Given the description of an element on the screen output the (x, y) to click on. 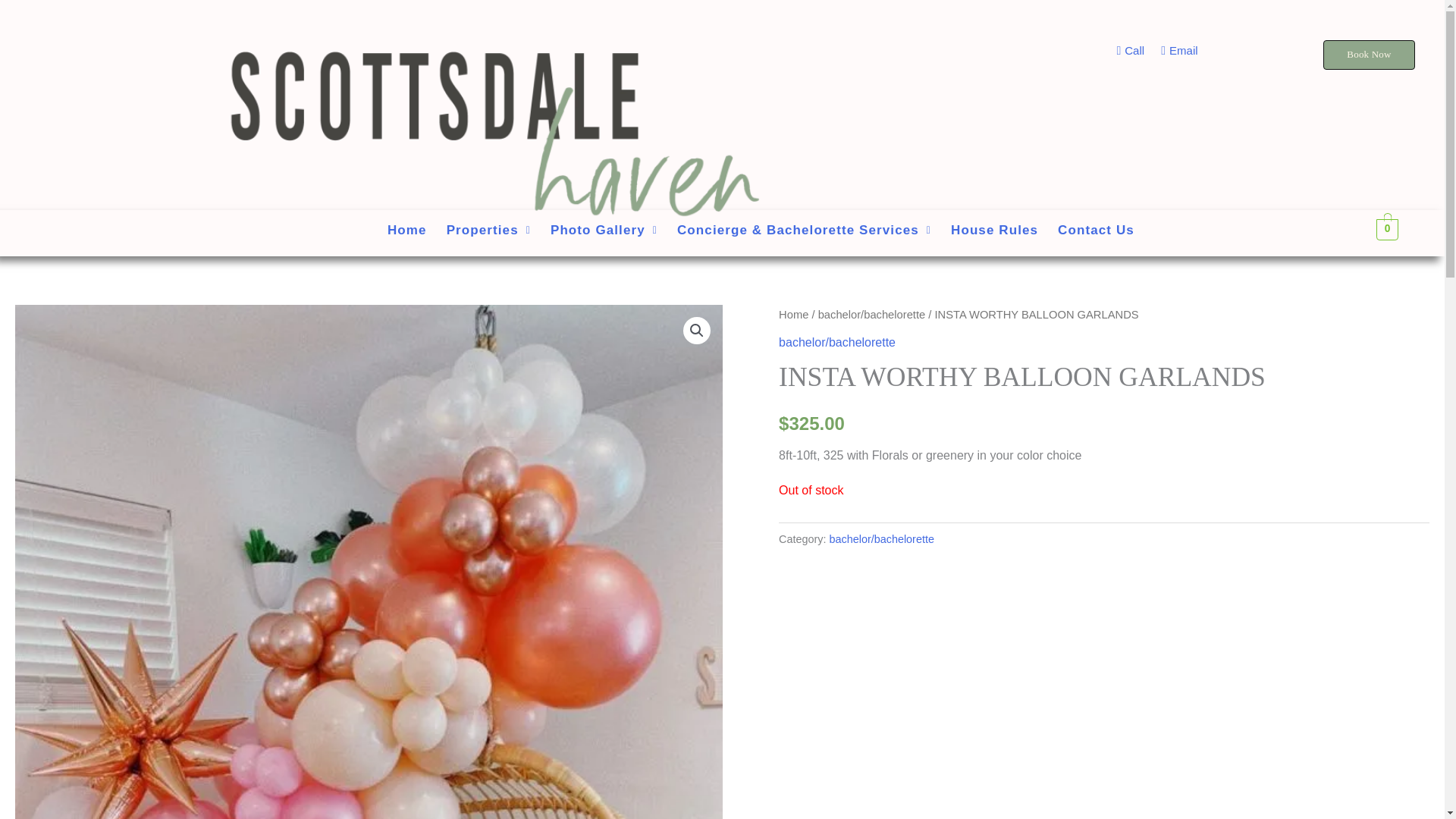
View your shopping cart (1386, 228)
Properties (488, 229)
House Rules (994, 229)
Call (1124, 50)
Contact Us (1096, 229)
Email (1174, 50)
Photo Gallery (604, 229)
Book Now (1368, 54)
0 (1386, 228)
